Given the description of an element on the screen output the (x, y) to click on. 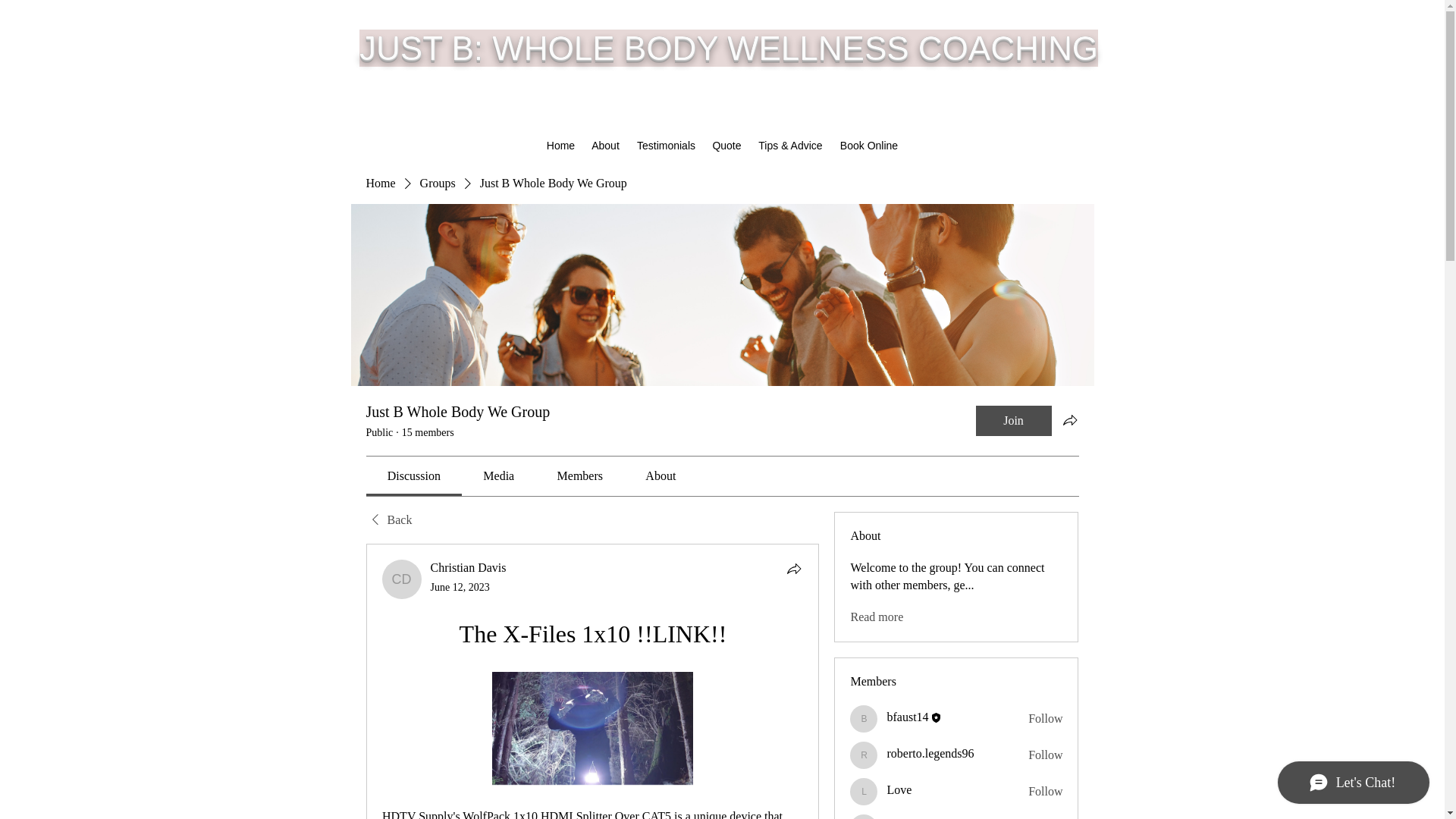
Back (388, 519)
bfaust14 (863, 718)
Follow (1044, 791)
Join (1013, 420)
Book Online (868, 145)
roberto.legends96 (863, 755)
Home (379, 183)
Home (560, 145)
Quote (726, 145)
Love (863, 791)
June 12, 2023 (459, 586)
Groups (437, 183)
roberto.legends96 (930, 753)
Follow (1044, 754)
remote content (592, 729)
